Given the description of an element on the screen output the (x, y) to click on. 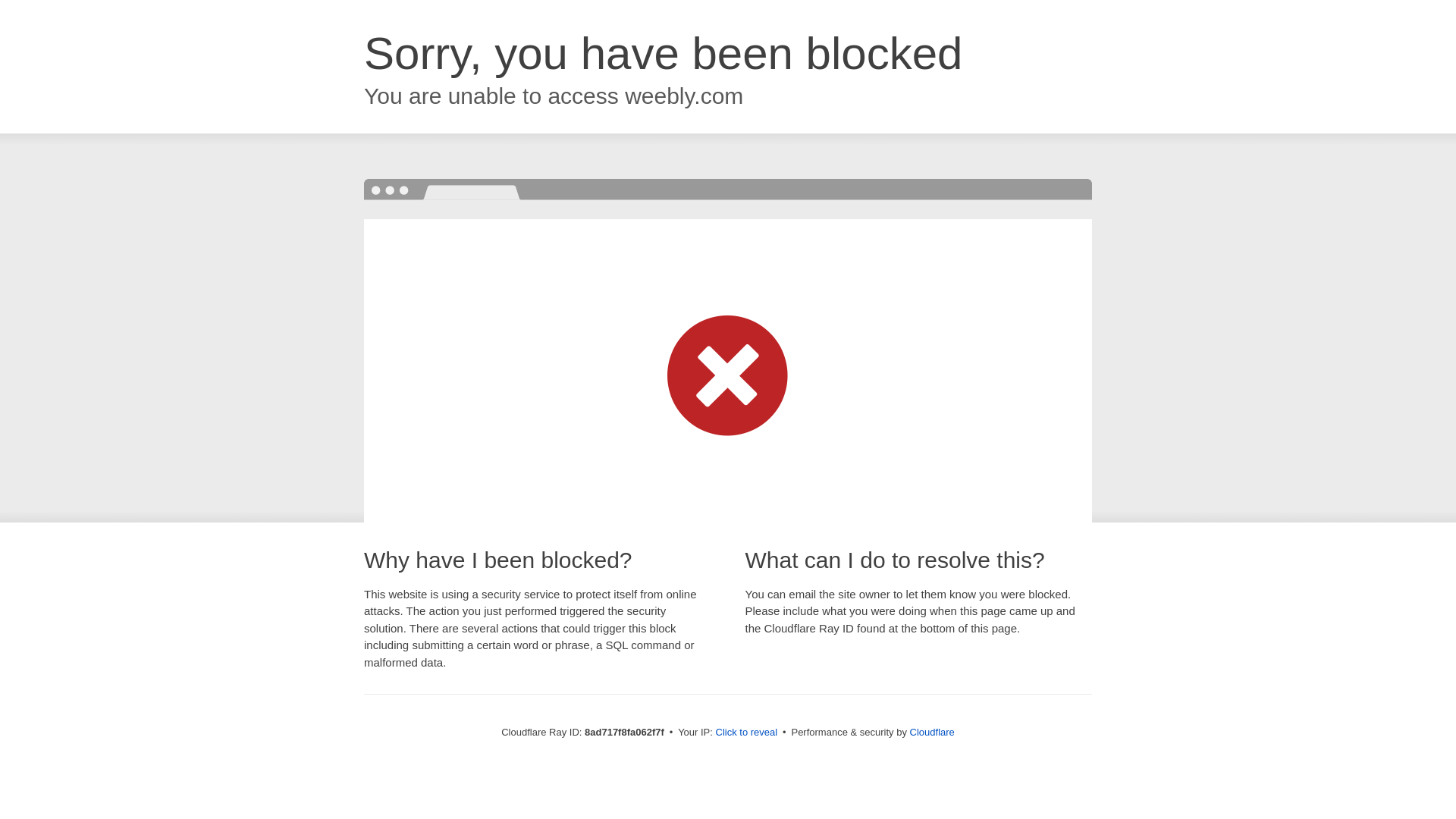
Cloudflare (932, 731)
Click to reveal (746, 732)
